Given the description of an element on the screen output the (x, y) to click on. 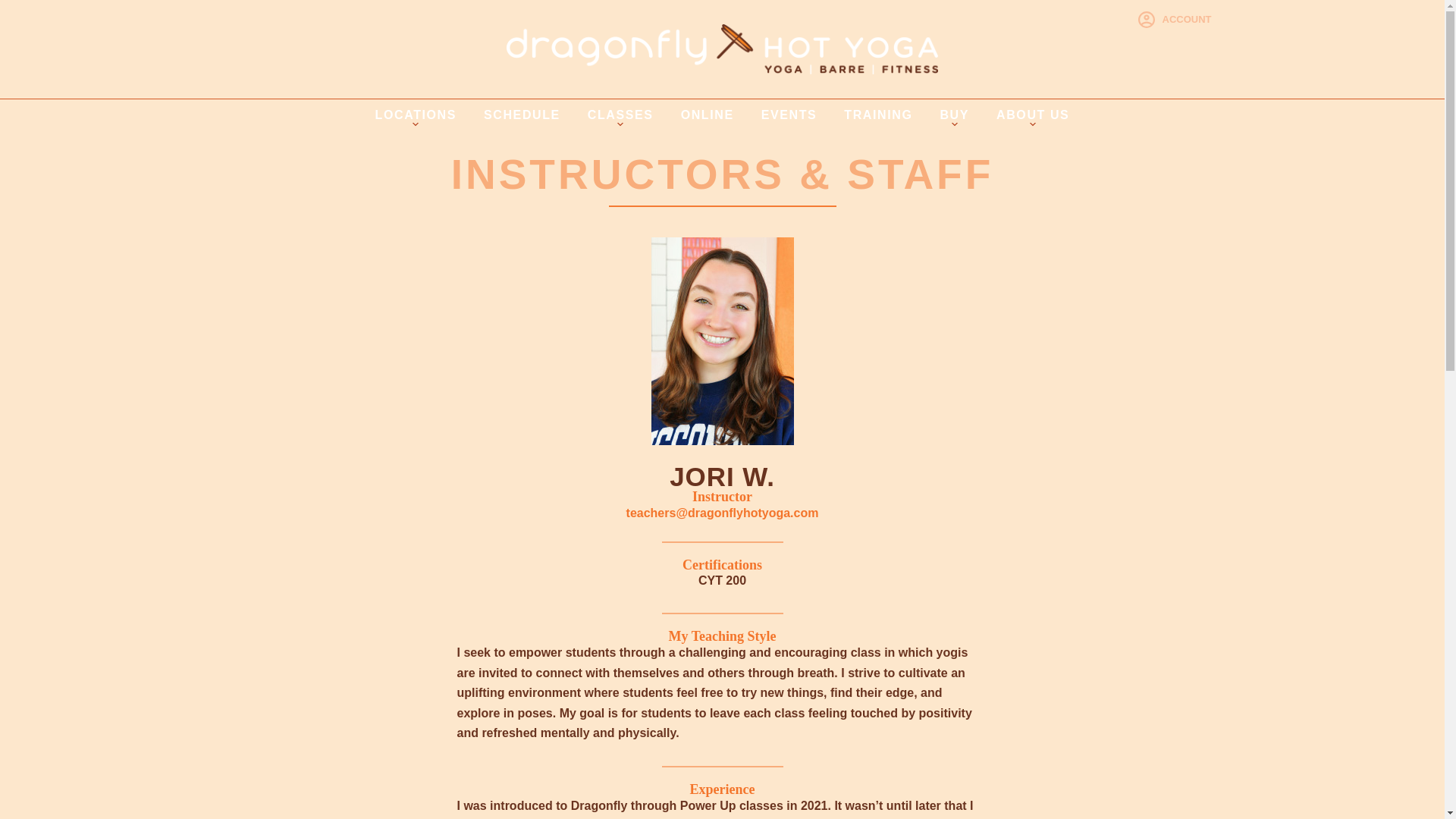
SCHEDULE (521, 115)
LOCATIONS (415, 115)
Personal Challenges (721, 180)
CLASSES (619, 115)
Email jori-w (722, 512)
ACCOUNT (1174, 19)
Skip to content (15, 7)
